Given the description of an element on the screen output the (x, y) to click on. 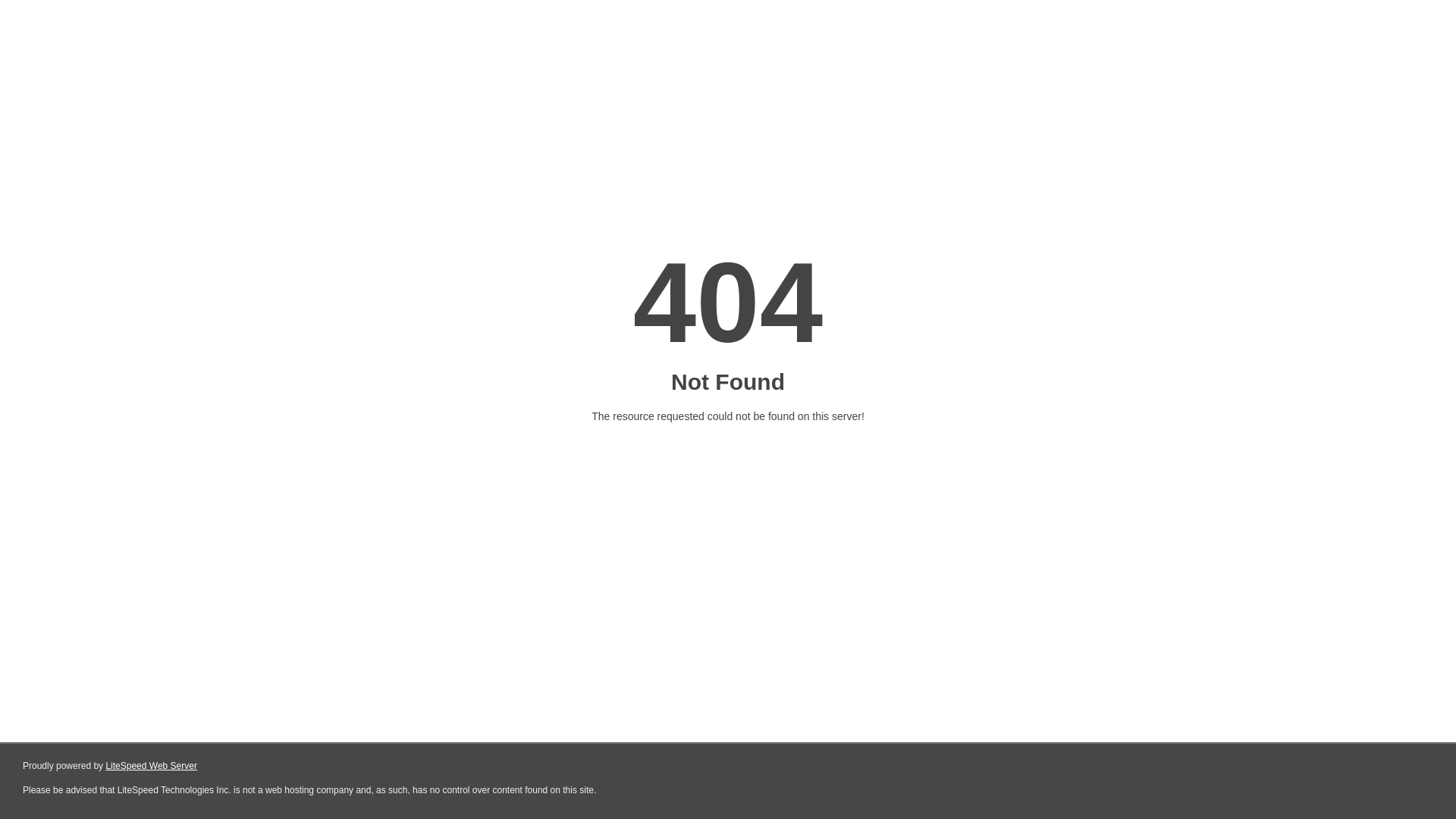
LiteSpeed Web Server Element type: text (151, 765)
